Given the description of an element on the screen output the (x, y) to click on. 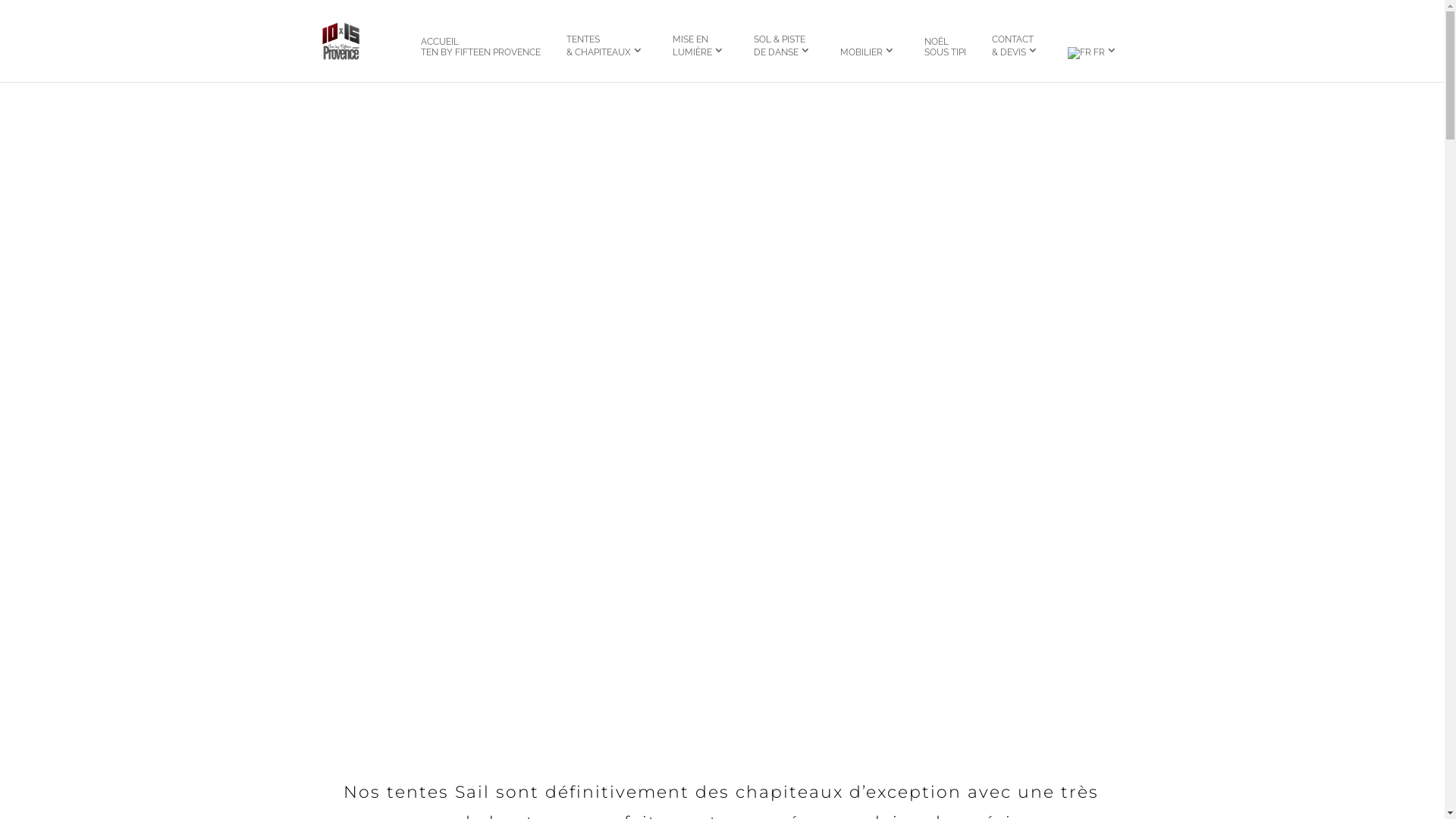
FR Element type: text (1093, 57)
TENTES
& CHAPITEAUX Element type: text (606, 51)
MOBILIER Element type: text (868, 56)
CONTACT
& DEVIS Element type: text (1015, 51)
ACCUEIL
TEN BY FIFTEEN PROVENCE Element type: text (480, 52)
SOL & PISTE
DE DANSE Element type: text (783, 51)
